Given the description of an element on the screen output the (x, y) to click on. 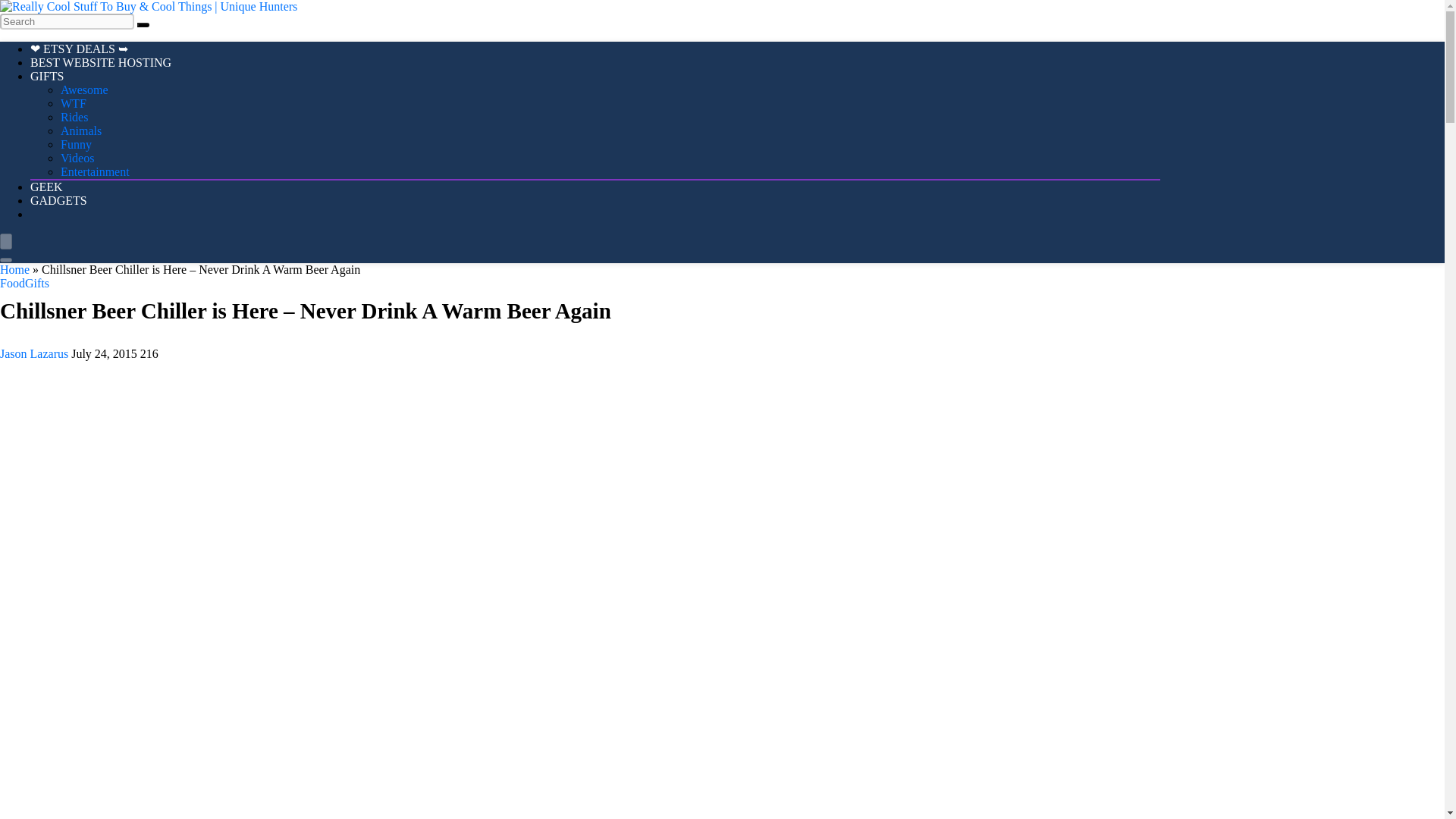
GEEK (46, 186)
WTF (73, 103)
Funny (76, 144)
Food (12, 282)
View all posts in Gifts (36, 282)
Entertainment (95, 171)
GIFTS (47, 75)
GADGETS (58, 200)
Awesome (84, 89)
Jason Lazarus (35, 353)
Rides (74, 116)
Animals (81, 130)
BEST WEBSITE HOSTING (100, 62)
View all posts in Food (12, 282)
Home (14, 269)
